Given the description of an element on the screen output the (x, y) to click on. 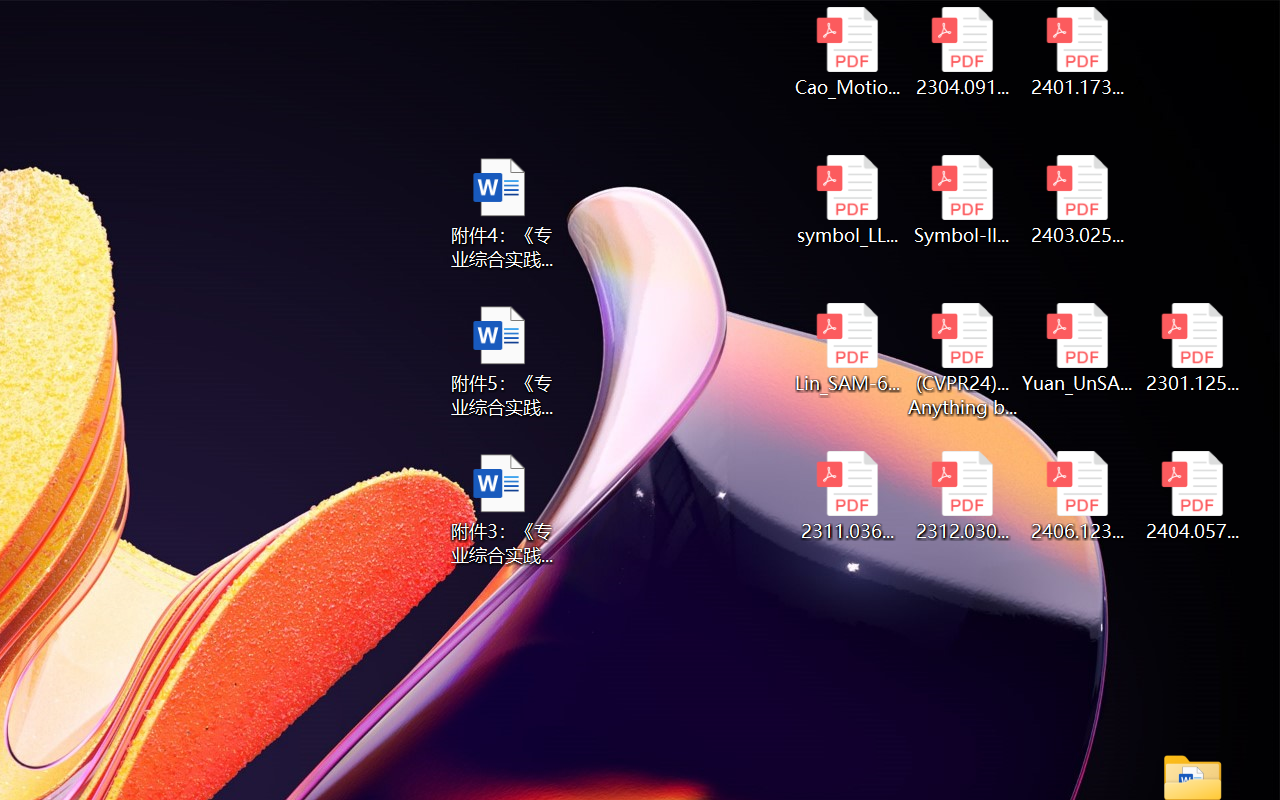
2304.09121v3.pdf (962, 52)
2311.03658v2.pdf (846, 496)
2406.12373v2.pdf (1077, 496)
2312.03032v2.pdf (962, 496)
(CVPR24)Matching Anything by Segmenting Anything.pdf (962, 360)
Symbol-llm-v2.pdf (962, 200)
2403.02502v1.pdf (1077, 200)
2301.12597v3.pdf (1192, 348)
2401.17399v1.pdf (1077, 52)
2404.05719v1.pdf (1192, 496)
